Given the description of an element on the screen output the (x, y) to click on. 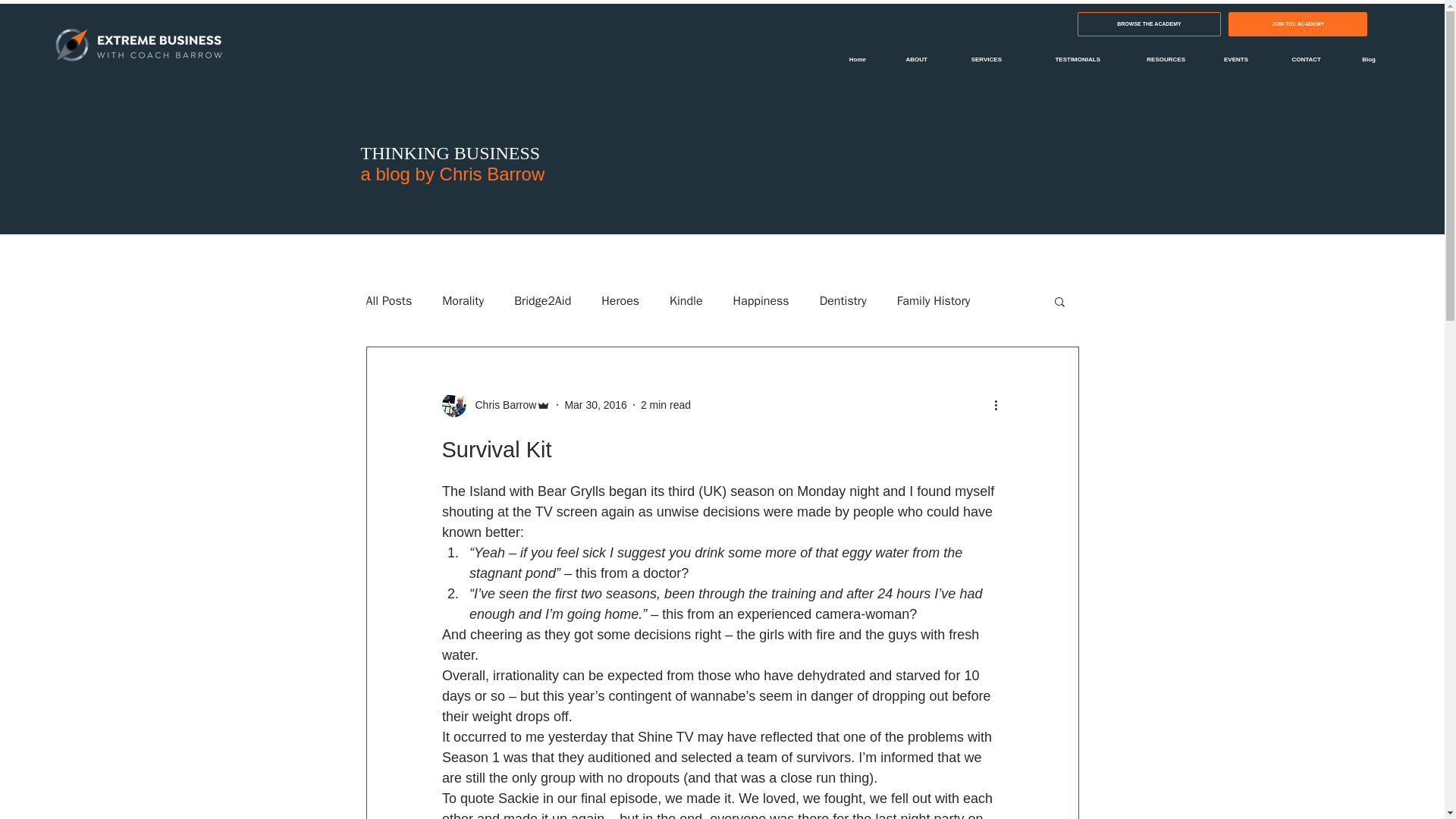
Morality (462, 300)
Family History (933, 300)
RESOURCES (1154, 59)
Home (849, 59)
Mar 30, 2016 (595, 404)
All Posts (388, 300)
EVENTS (1227, 59)
Blog (1359, 59)
CONTACT (1295, 59)
Chris Barrow (500, 405)
